Given the description of an element on the screen output the (x, y) to click on. 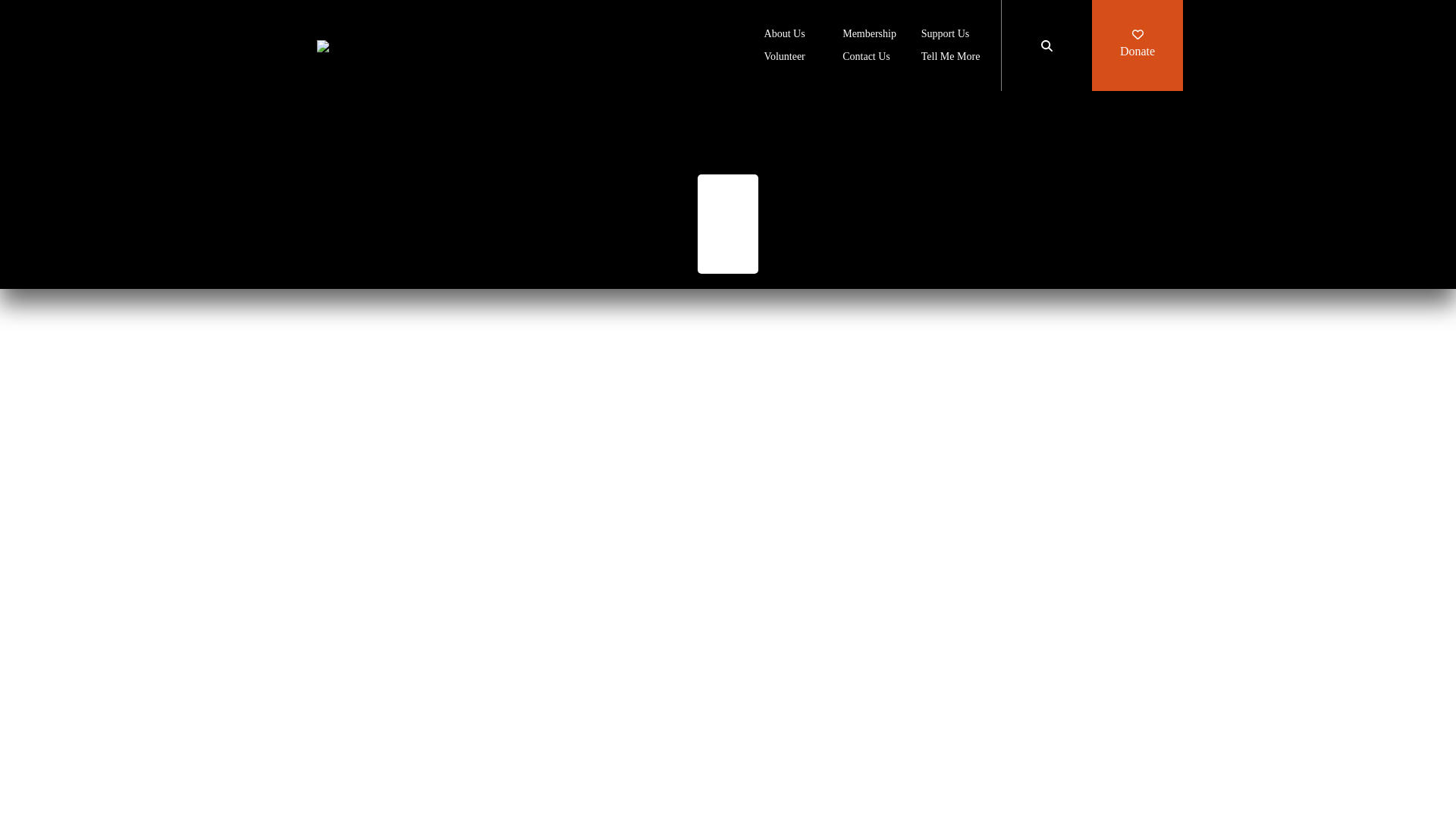
Donate (1137, 45)
About Us (784, 35)
Contact Us (866, 57)
Volunteer (784, 57)
Support Us (945, 35)
Tell Me More (950, 57)
Membership (869, 35)
